Given the description of an element on the screen output the (x, y) to click on. 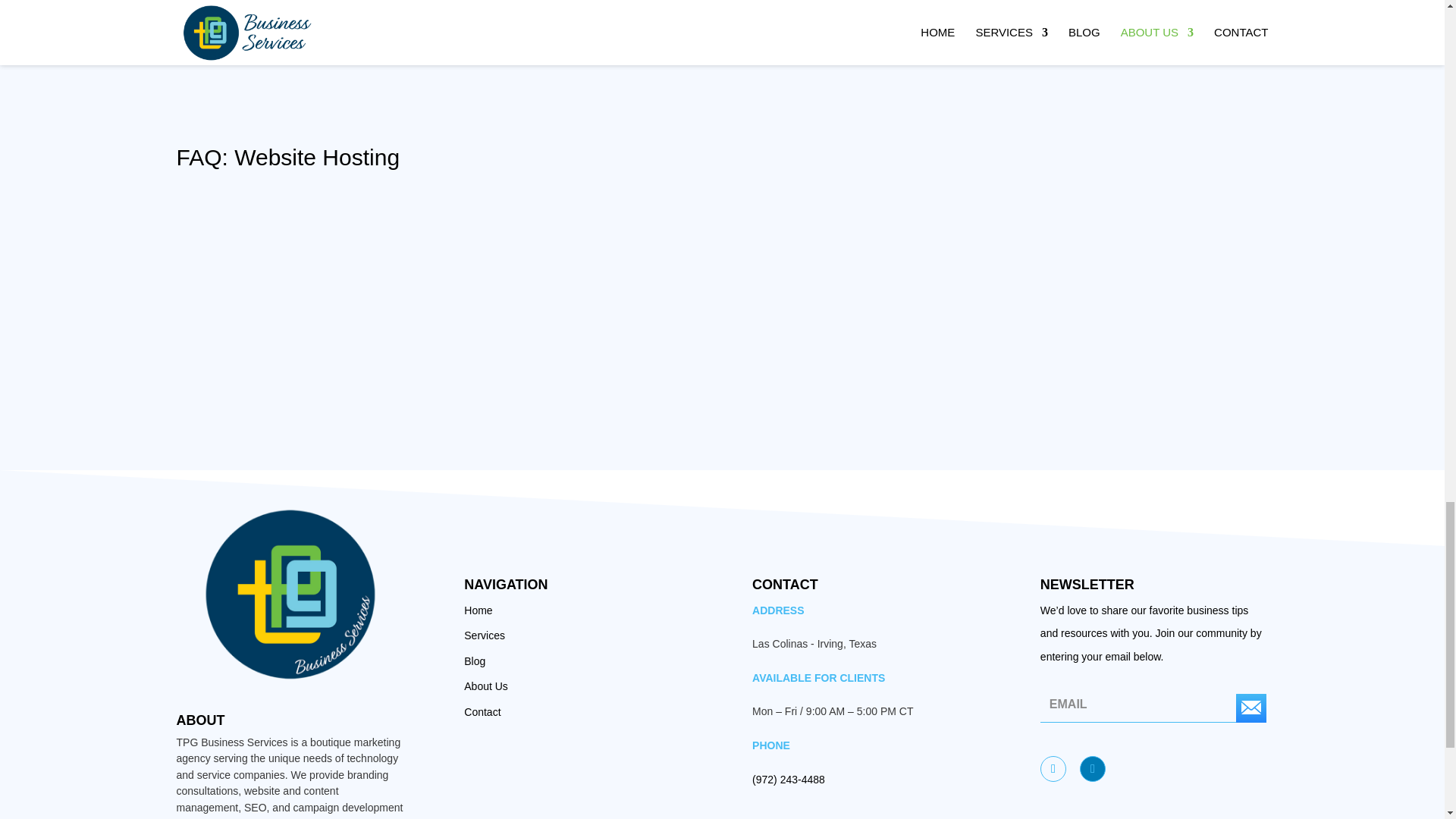
cropped-tgpbusiness-logo-transparent.png (289, 595)
Contact (482, 711)
Blog (474, 661)
Follow on Facebook (1053, 768)
Follow on LinkedIn (1092, 768)
Home (478, 610)
About Us (486, 686)
Services (484, 635)
